Given the description of an element on the screen output the (x, y) to click on. 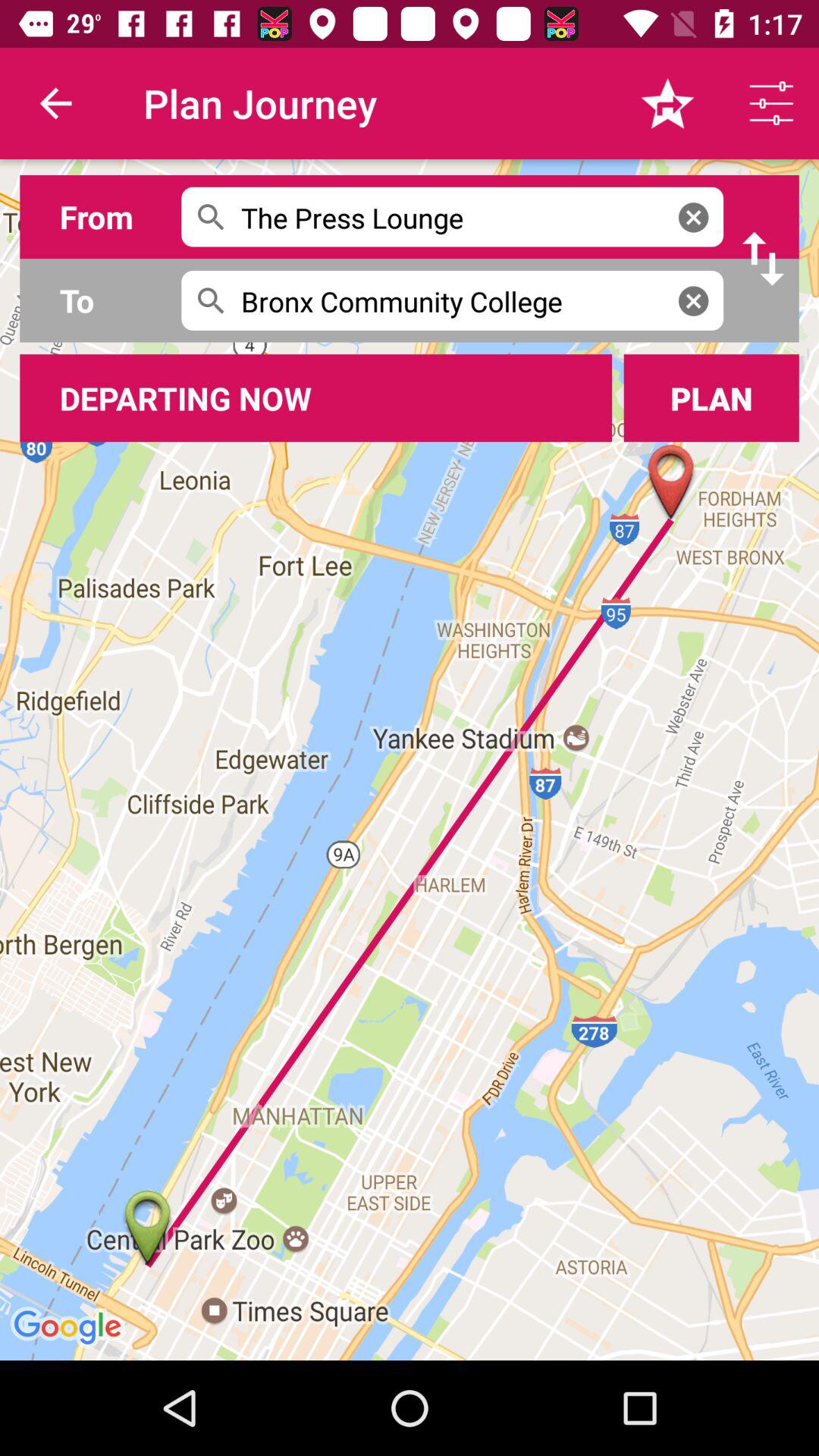
interchange from and to location (763, 258)
